Given the description of an element on the screen output the (x, y) to click on. 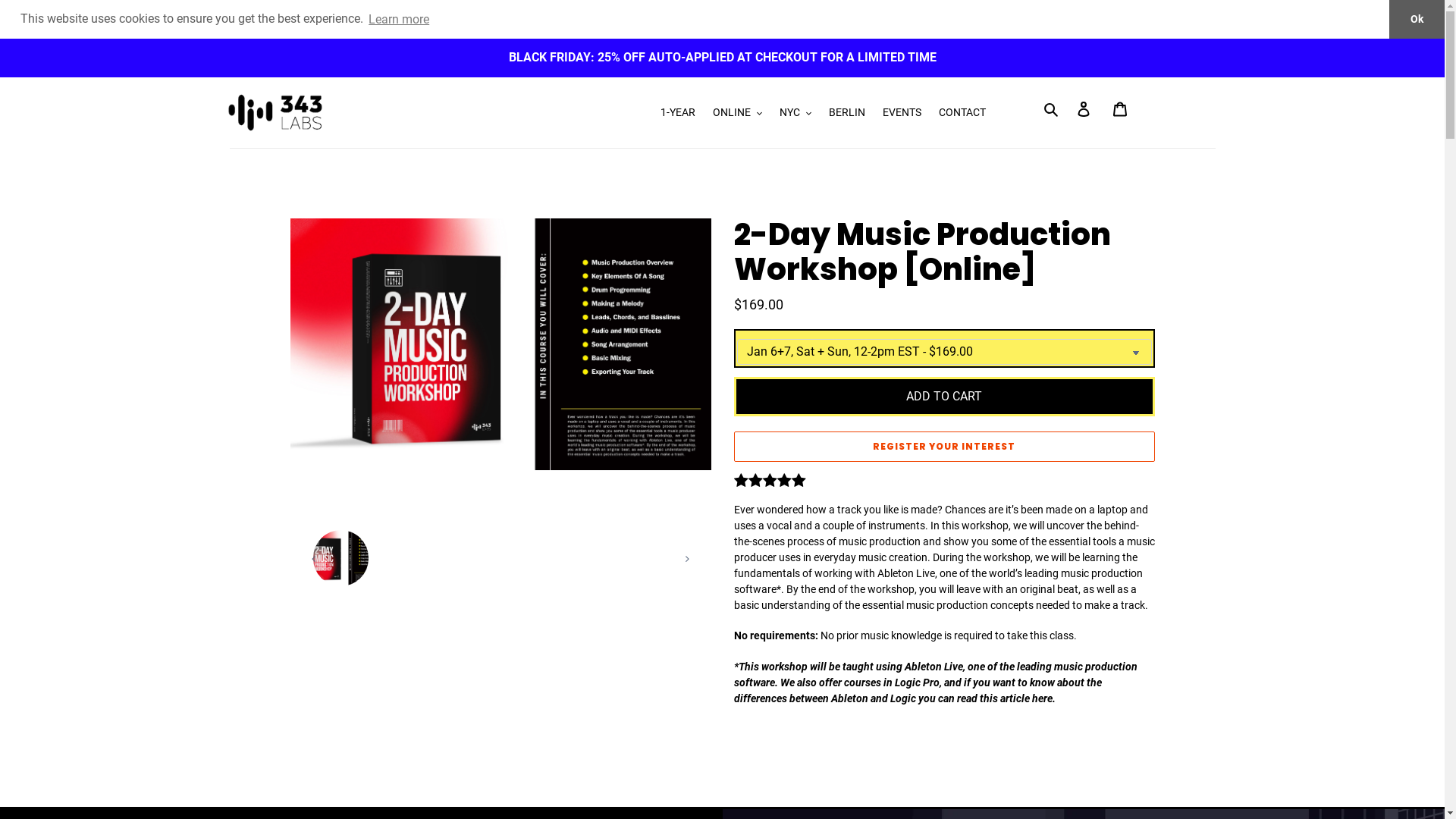
here Element type: text (1041, 698)
ADD TO CART Element type: text (944, 396)
ONLINE Element type: text (737, 112)
1-YEAR Element type: text (677, 112)
Learn more Element type: text (398, 18)
Ok Element type: text (1416, 19)
Log in Element type: text (1083, 108)
NYC Element type: text (795, 112)
Search Element type: text (1051, 108)
CONTACT Element type: text (962, 112)
EVENTS Element type: text (901, 112)
Cart Element type: text (1119, 108)
BERLIN Element type: text (846, 112)
REGISTER YOUR INTEREST Element type: text (944, 446)
